Given the description of an element on the screen output the (x, y) to click on. 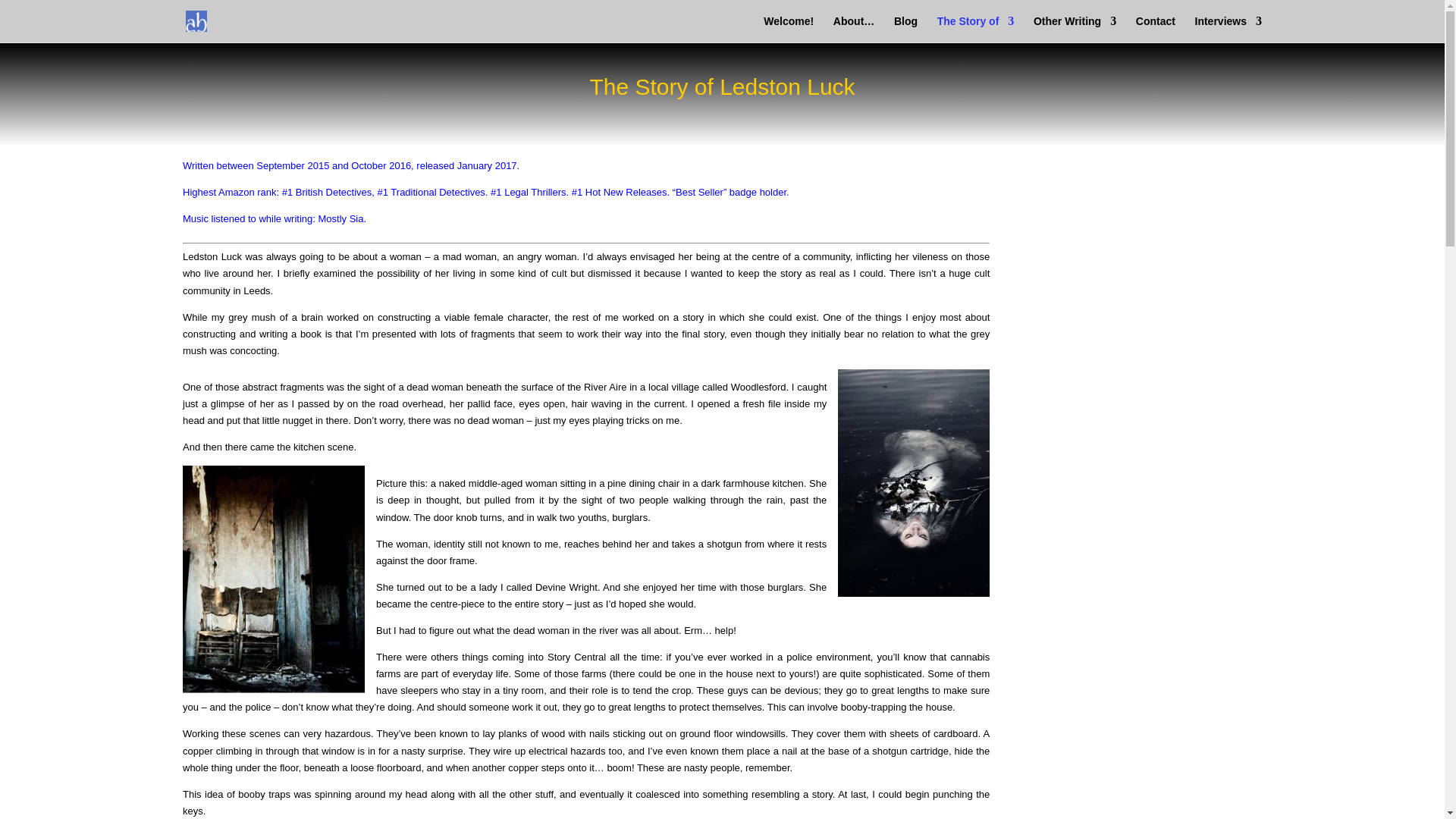
Home (787, 28)
Other Writing (1074, 28)
Interviews (1228, 28)
The Story of (975, 28)
Welcome! (787, 28)
Contact (1154, 28)
